Given the description of an element on the screen output the (x, y) to click on. 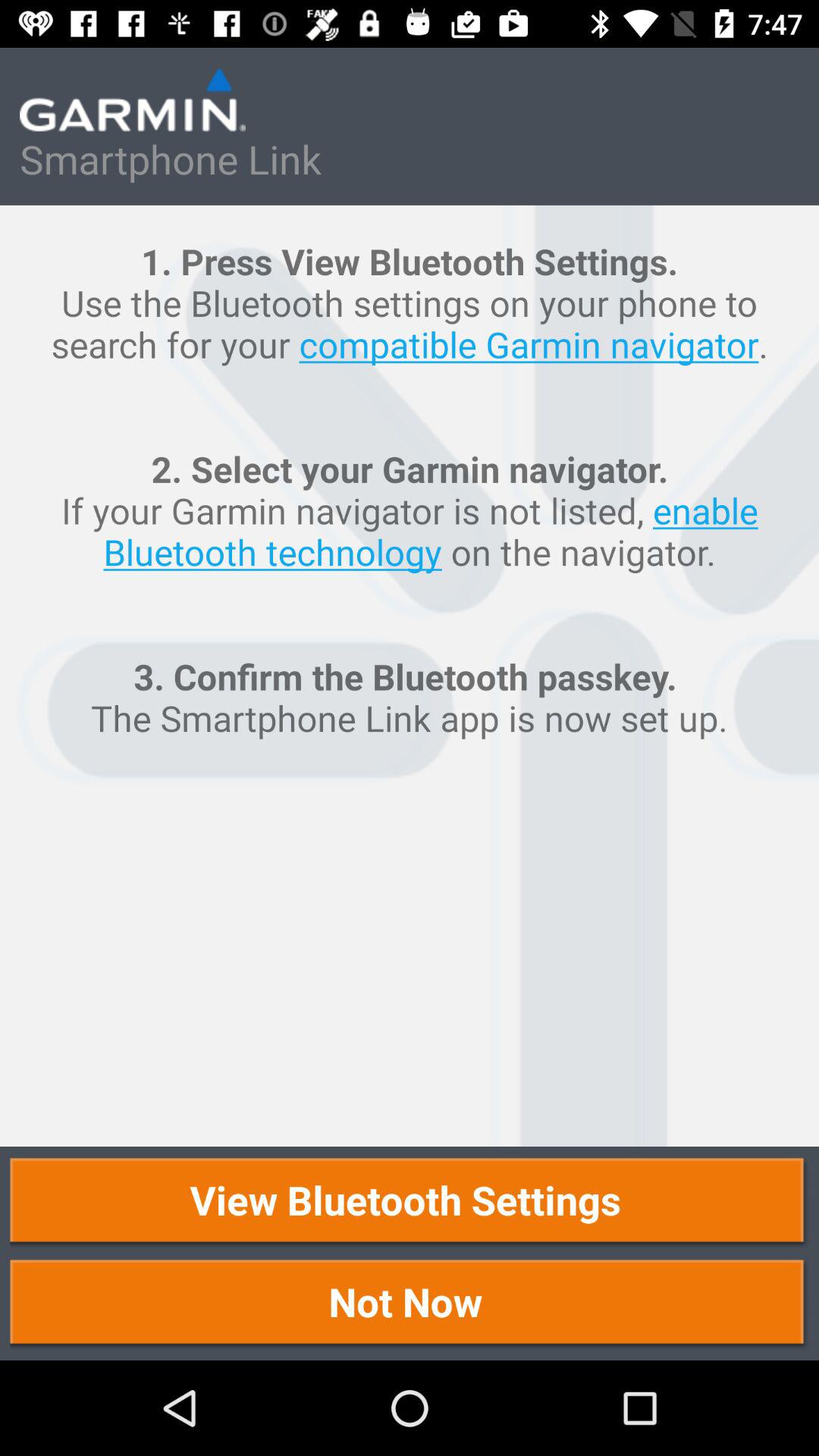
turn off not now icon (409, 1304)
